Given the description of an element on the screen output the (x, y) to click on. 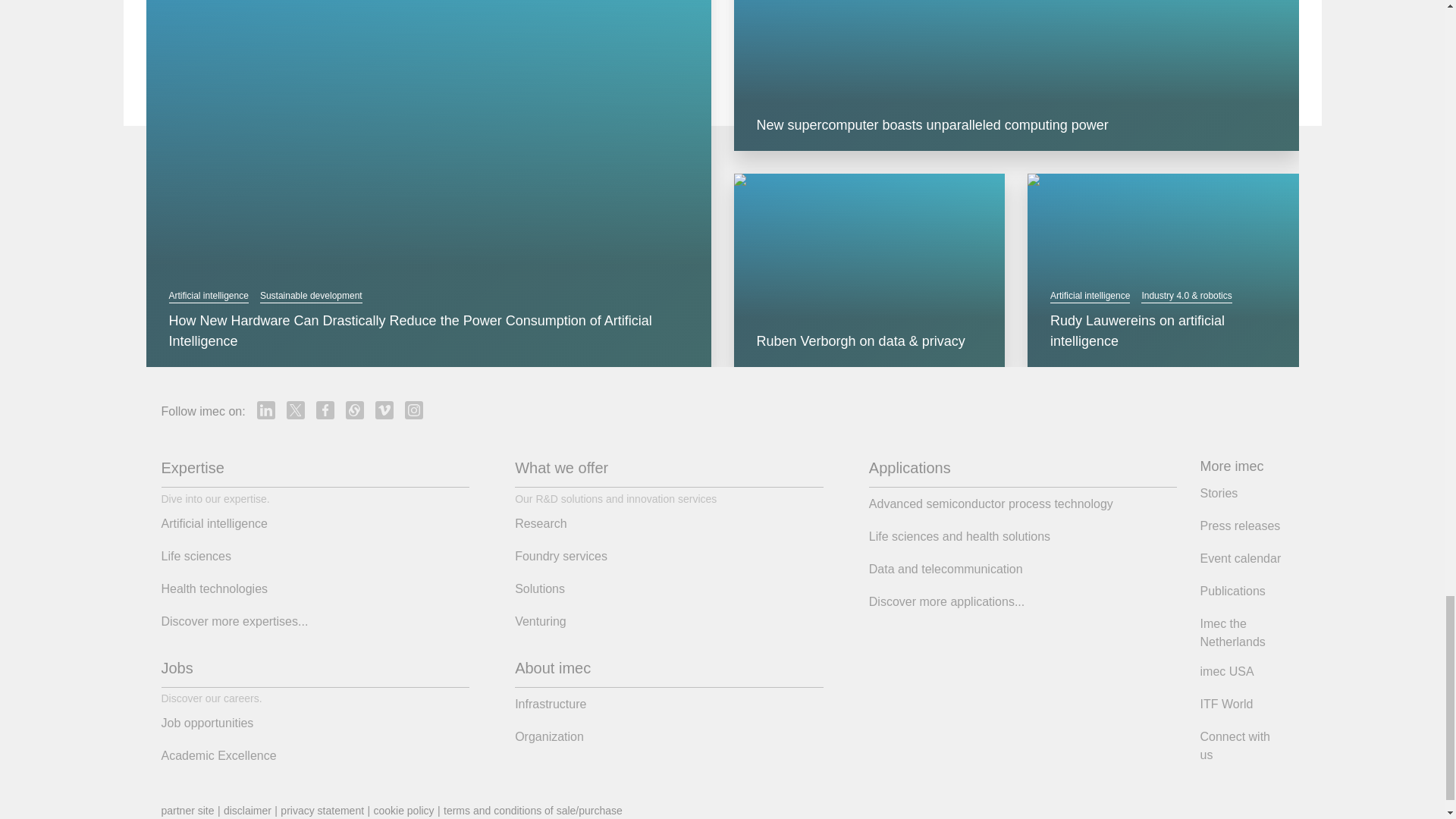
X (295, 410)
Instagram (413, 410)
Sustainable development (311, 296)
Artificial intelligence (207, 296)
Facebook (324, 410)
Artificial intelligence (1089, 296)
Swivle (355, 410)
Rudy Lauwereins on artificial intelligence (1162, 331)
LinkedIn (266, 410)
